Given the description of an element on the screen output the (x, y) to click on. 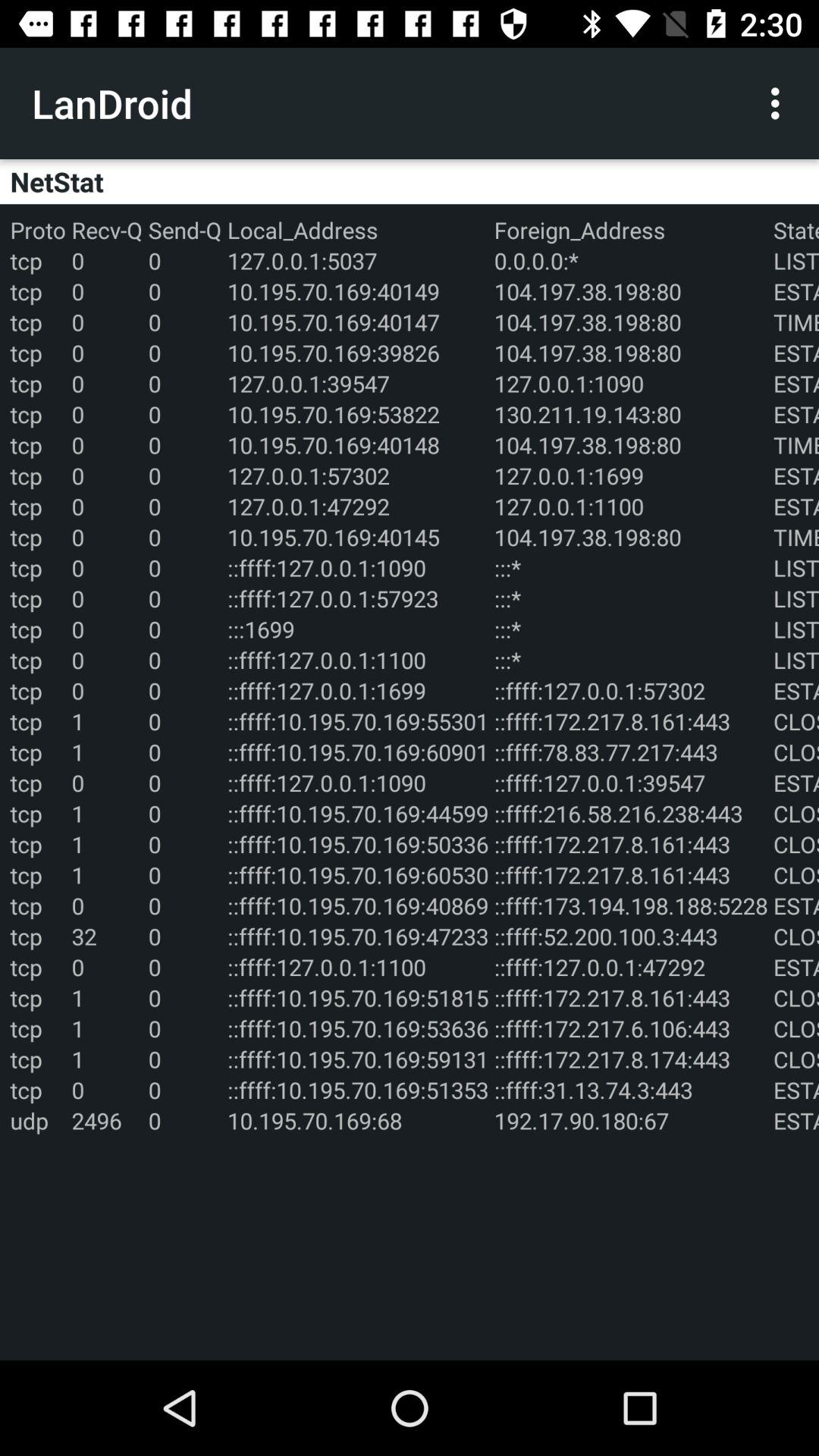
select item above the netstat (779, 103)
